Given the description of an element on the screen output the (x, y) to click on. 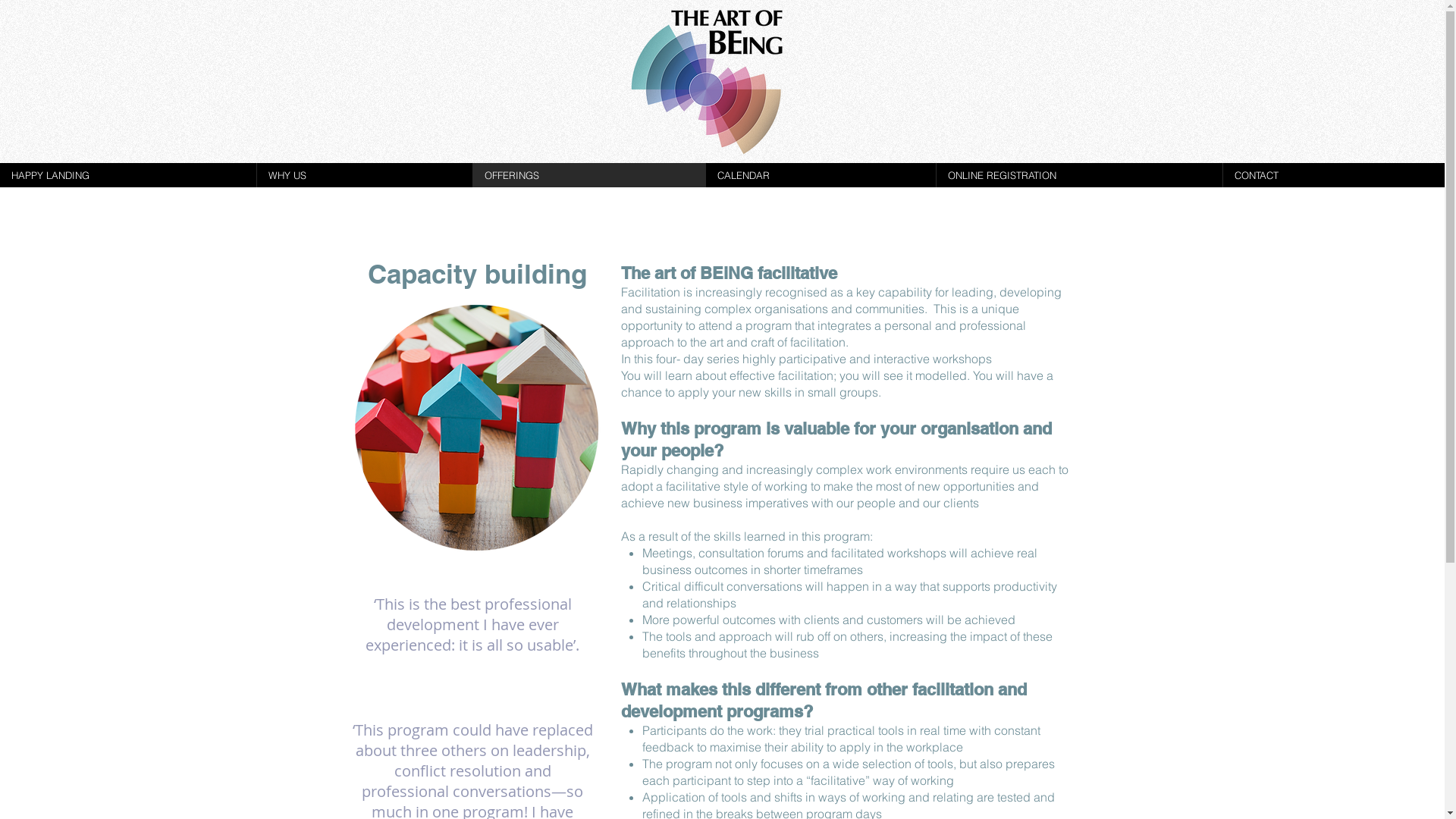
WHY US Element type: text (364, 175)
CONTACT Element type: text (1333, 175)
ONLINE REGISTRATION Element type: text (1078, 175)
CALENDAR Element type: text (820, 175)
OFFERINGS Element type: text (588, 175)
HAPPY LANDING Element type: text (128, 175)
